Given the description of an element on the screen output the (x, y) to click on. 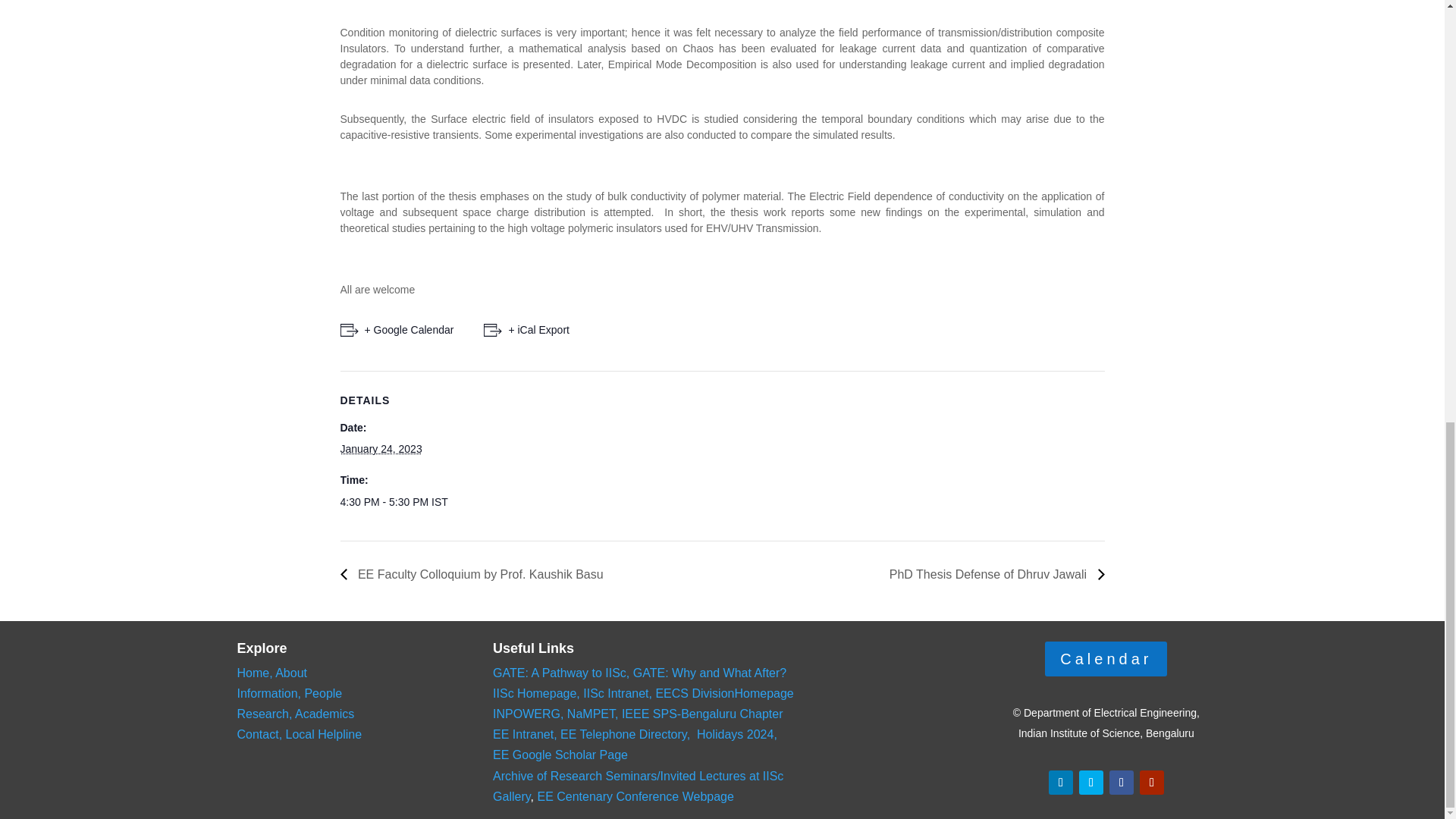
Follow on Facebook (1121, 782)
Follow on LinkedIn (1060, 782)
Follow on Youtube (1151, 782)
Follow on Twitter (1090, 782)
2023-01-24 (403, 502)
2023-01-24 (380, 449)
Add to Google Calendar (395, 330)
Download .ics file (526, 330)
